Given the description of an element on the screen output the (x, y) to click on. 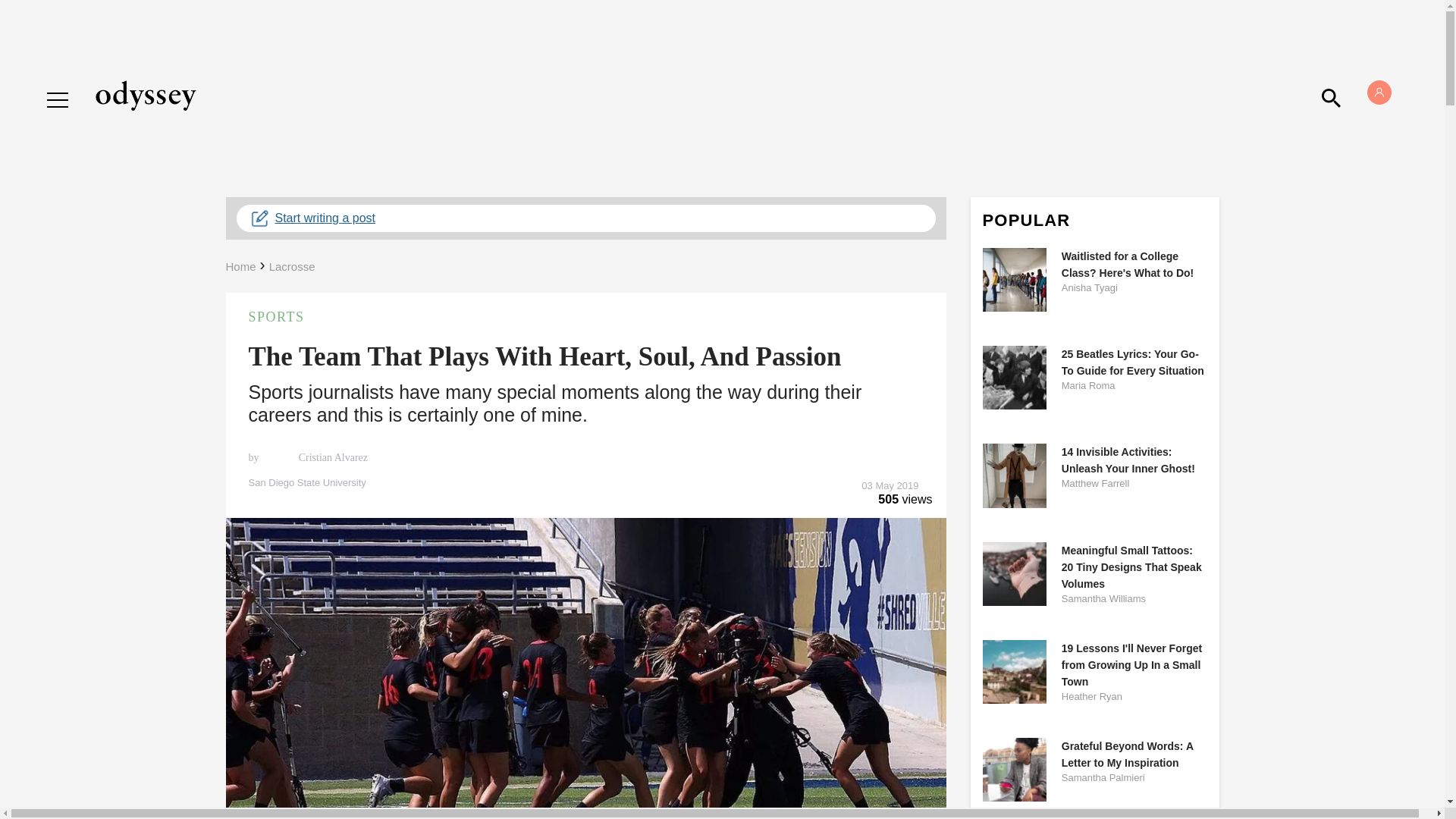
SPORTS (585, 316)
GO BACK (79, 85)
Cristian Alvarez (331, 457)
Start writing a post (585, 217)
Lacrosse (292, 266)
Home (240, 266)
The Team That Plays With Heart, Soul, And Passion (544, 356)
